Given the description of an element on the screen output the (x, y) to click on. 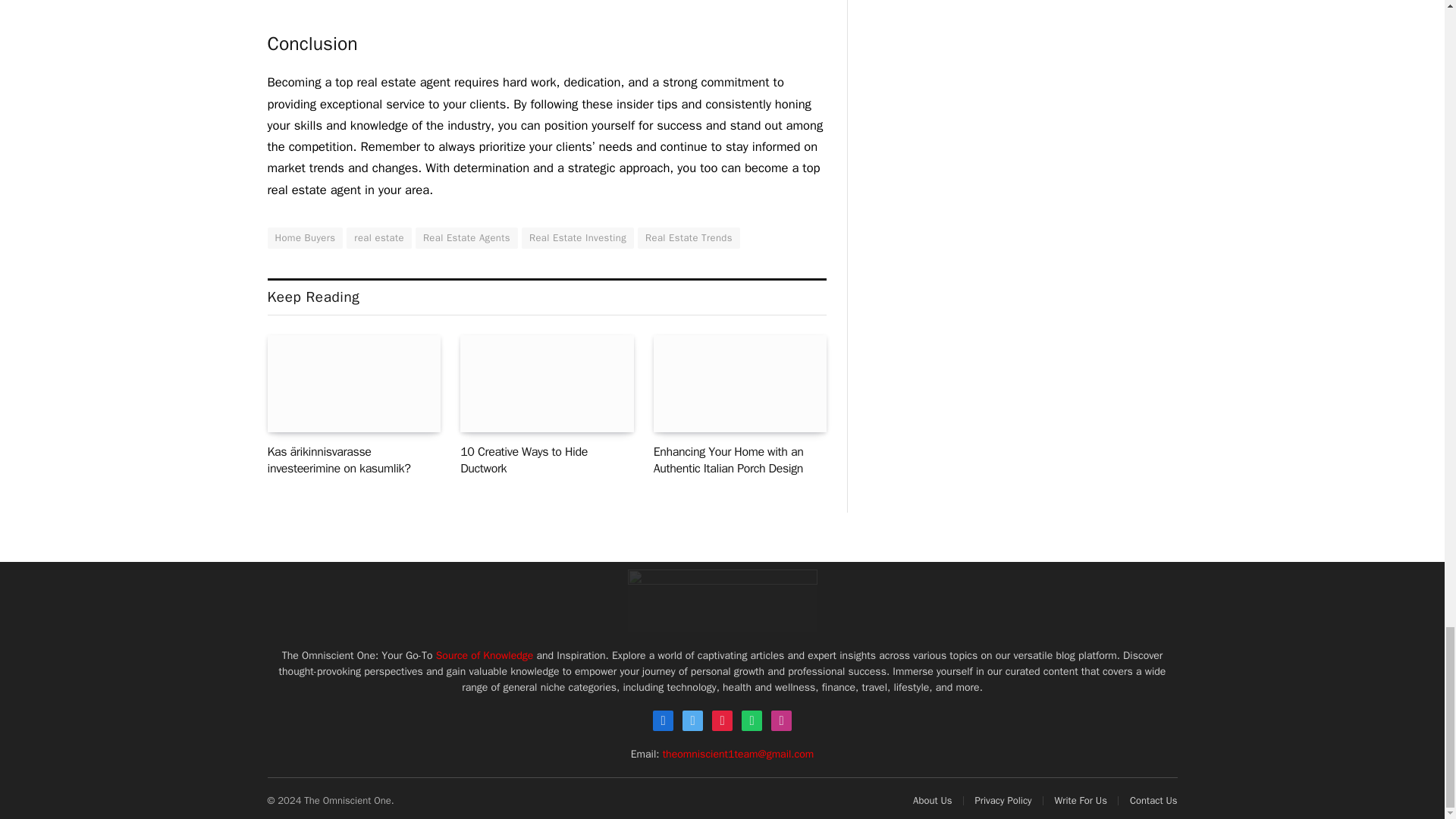
10 Creative Ways to Hide Ductwork (546, 383)
